Given the description of an element on the screen output the (x, y) to click on. 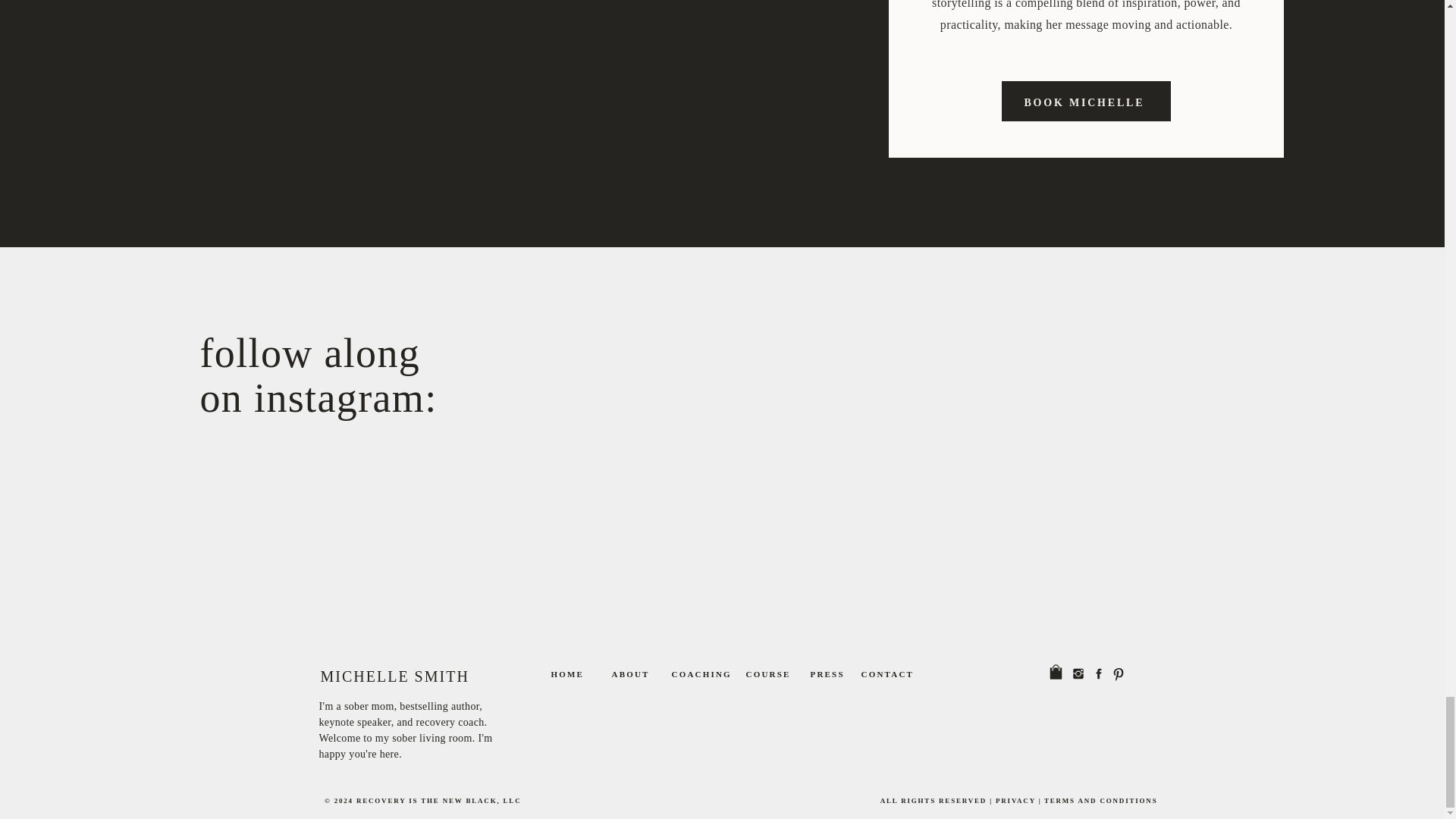
 TERMS AND CONDITIONS       (1098, 802)
COURSE (779, 676)
ABOUT (630, 676)
CONTACT (332, 387)
BOOK MICHELLE  (887, 676)
COACHING (1086, 101)
PRESS (696, 676)
HOME (832, 676)
